Given the description of an element on the screen output the (x, y) to click on. 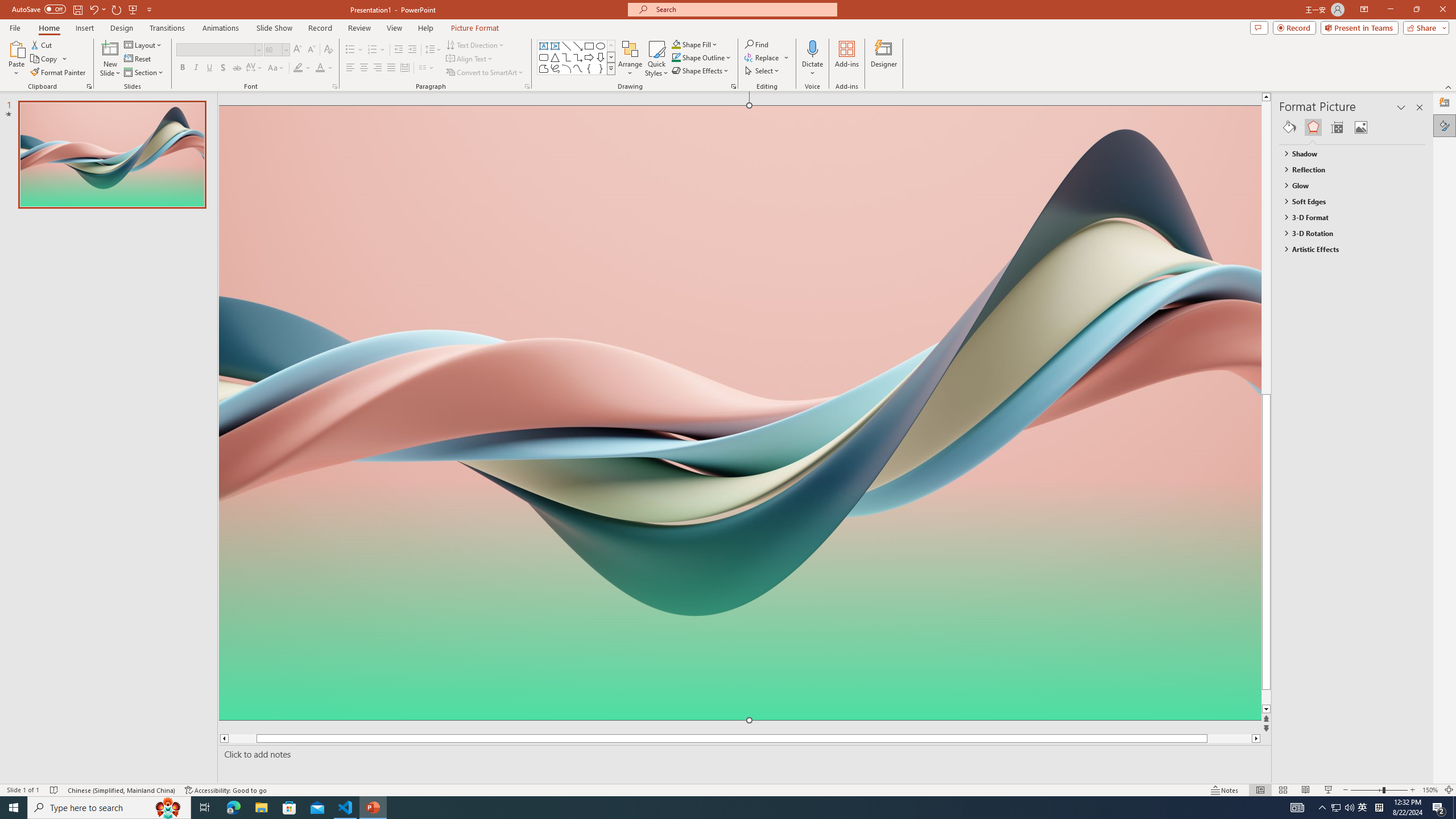
3-D Format (1347, 217)
Dictate (812, 48)
Text Highlight Color Yellow (297, 67)
Shape Fill Orange, Accent 2 (675, 44)
Design (122, 28)
View (395, 28)
New Slide (110, 48)
Open (285, 49)
Paste (16, 58)
Help (425, 28)
Animations (220, 28)
Normal (1260, 790)
3-D Rotation (1347, 232)
Save (77, 9)
Record (320, 28)
